Given the description of an element on the screen output the (x, y) to click on. 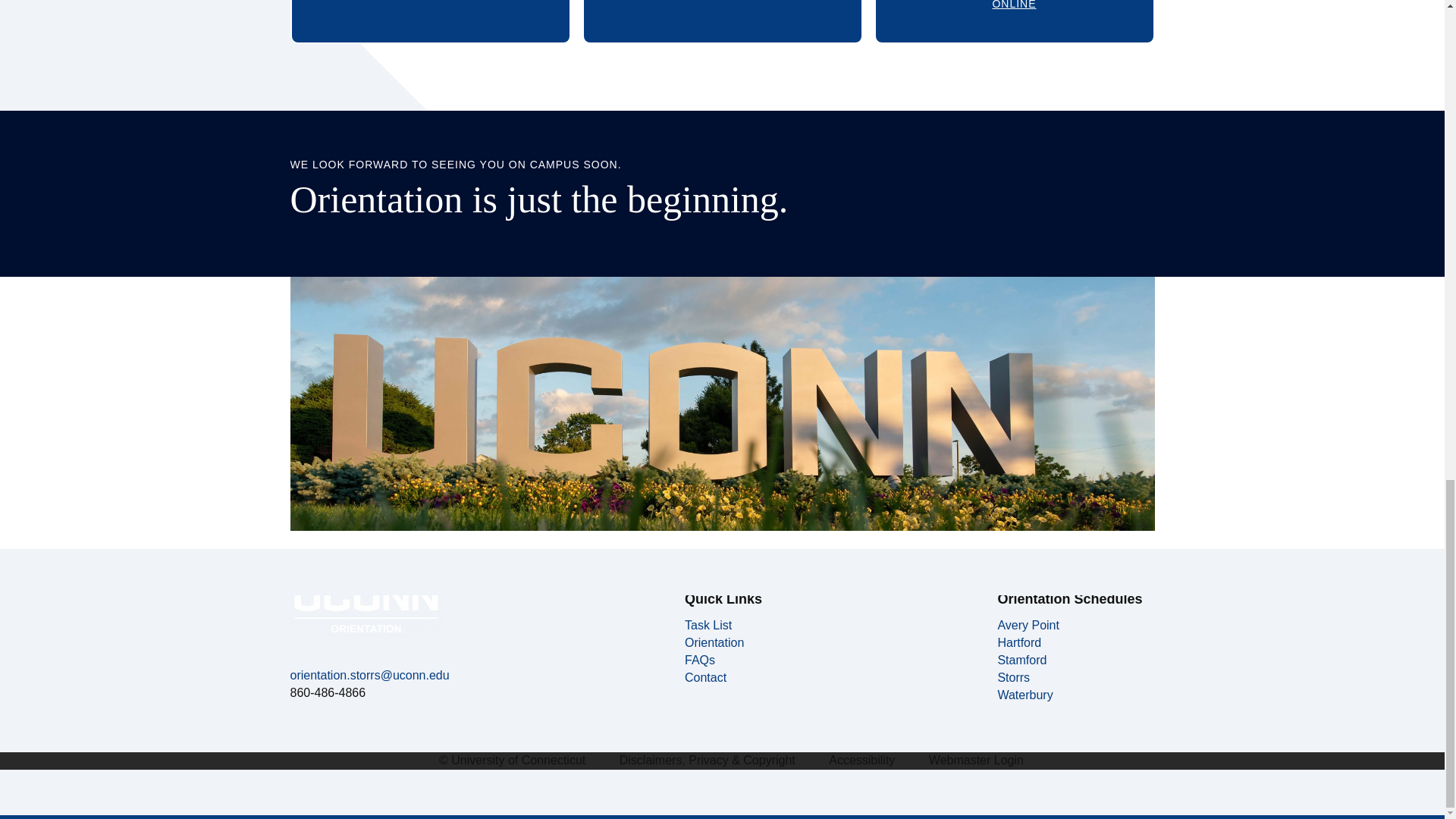
Contact (722, 22)
Orientation (705, 676)
Avery Point (714, 642)
Stamford (1028, 625)
Task List (1021, 659)
FAQs (708, 625)
Hartford (699, 659)
